Given the description of an element on the screen output the (x, y) to click on. 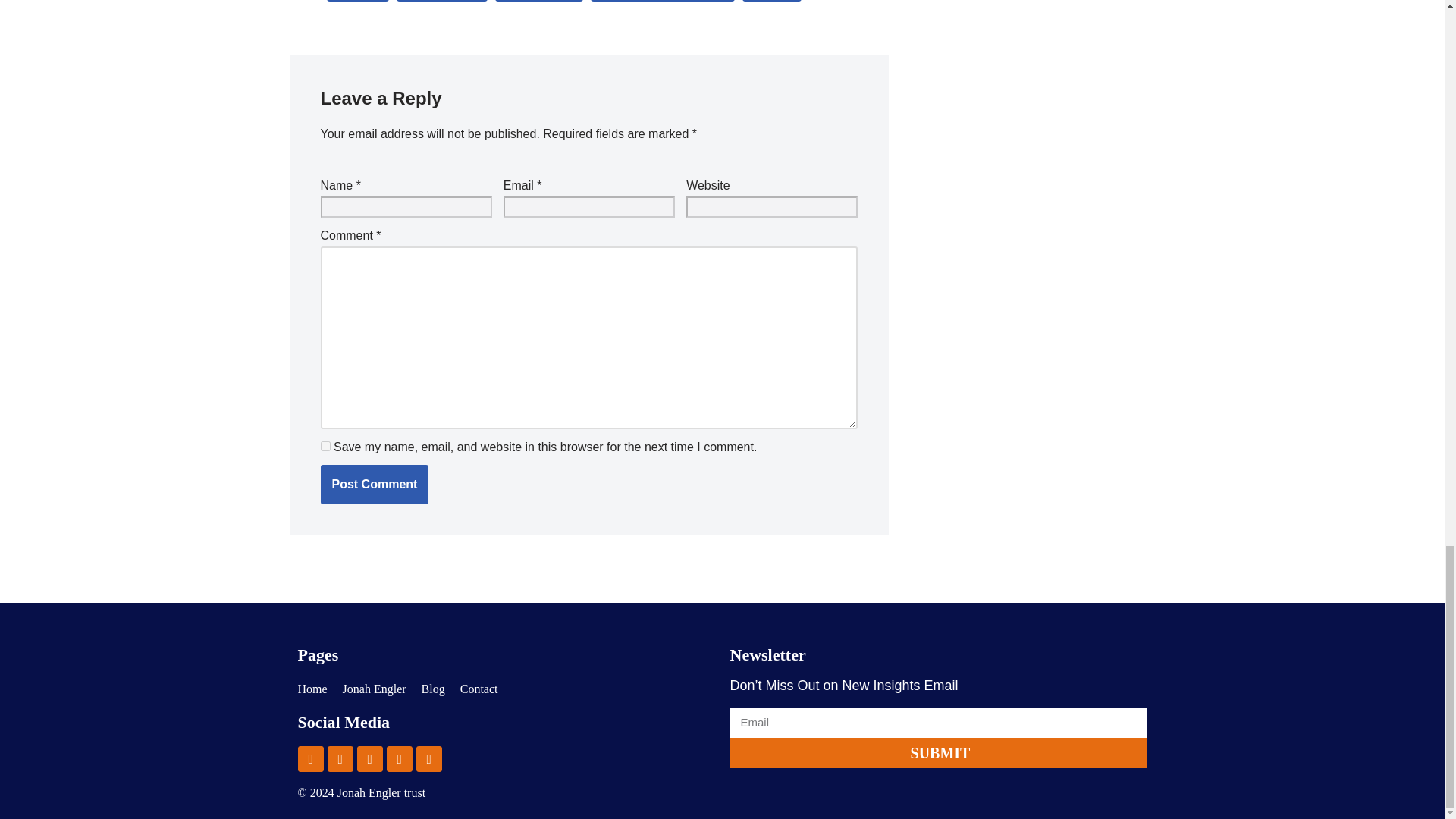
Jonah Engler (374, 688)
BUDDHIST (357, 0)
Blog (433, 688)
Contact (478, 688)
yes (325, 446)
Post Comment (374, 484)
Buddhist (357, 0)
Home (311, 688)
JONAH ENGLER (538, 0)
BUDDHIST RITES (441, 0)
RELIGION (772, 0)
Post Comment (374, 484)
Jonah Engler Silberman (663, 0)
Buddhist Rites (441, 0)
Religion (772, 0)
